Given the description of an element on the screen output the (x, y) to click on. 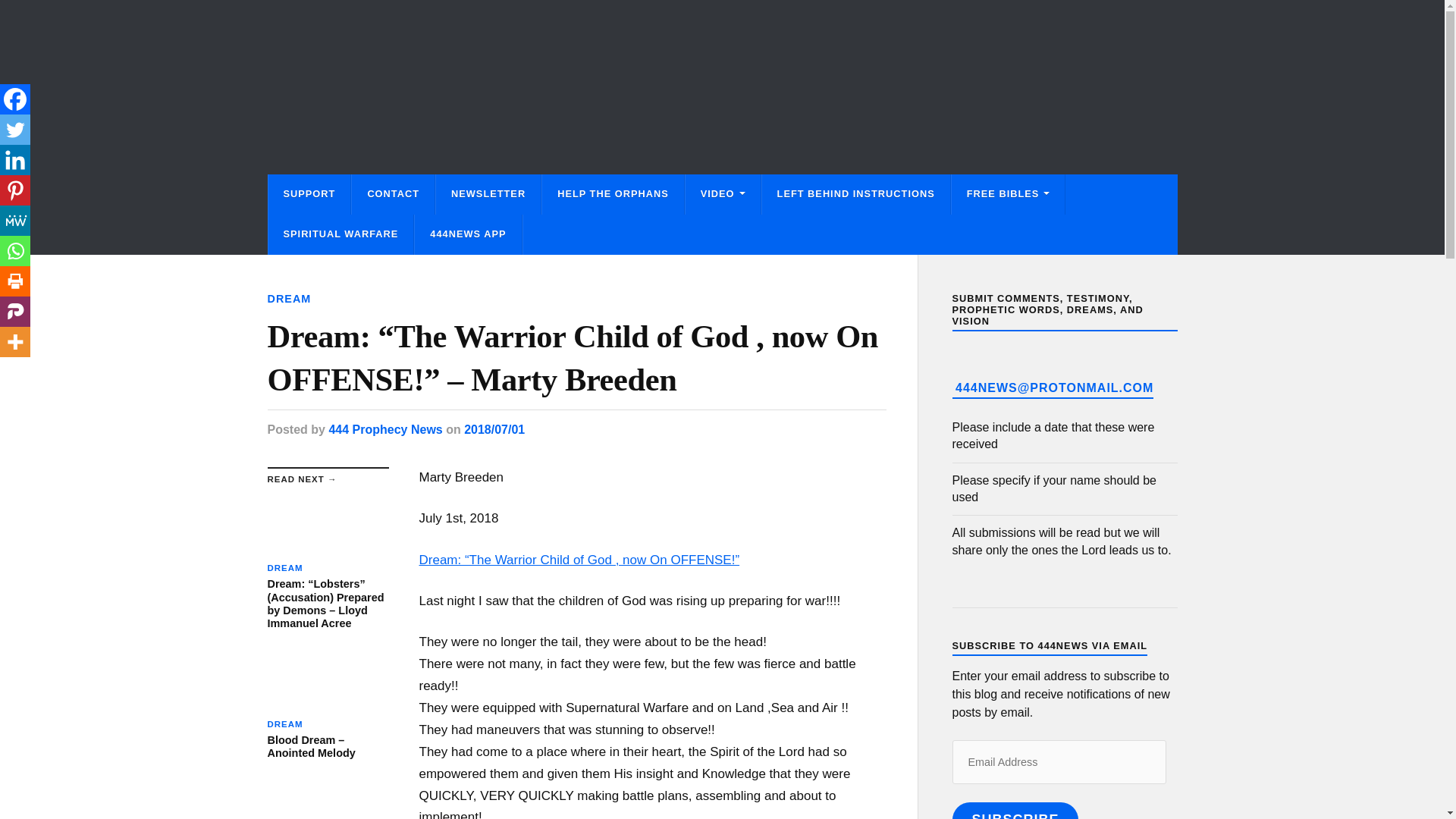
CONTACT (392, 194)
Pinterest (15, 190)
444 Prophecy News (385, 429)
MeWe (15, 220)
Facebook (15, 99)
Linkedin (15, 159)
FREE BIBLES (1008, 194)
VIDEO (722, 194)
SPIRITUAL WARFARE (340, 234)
444NEWS APP (467, 234)
